Given the description of an element on the screen output the (x, y) to click on. 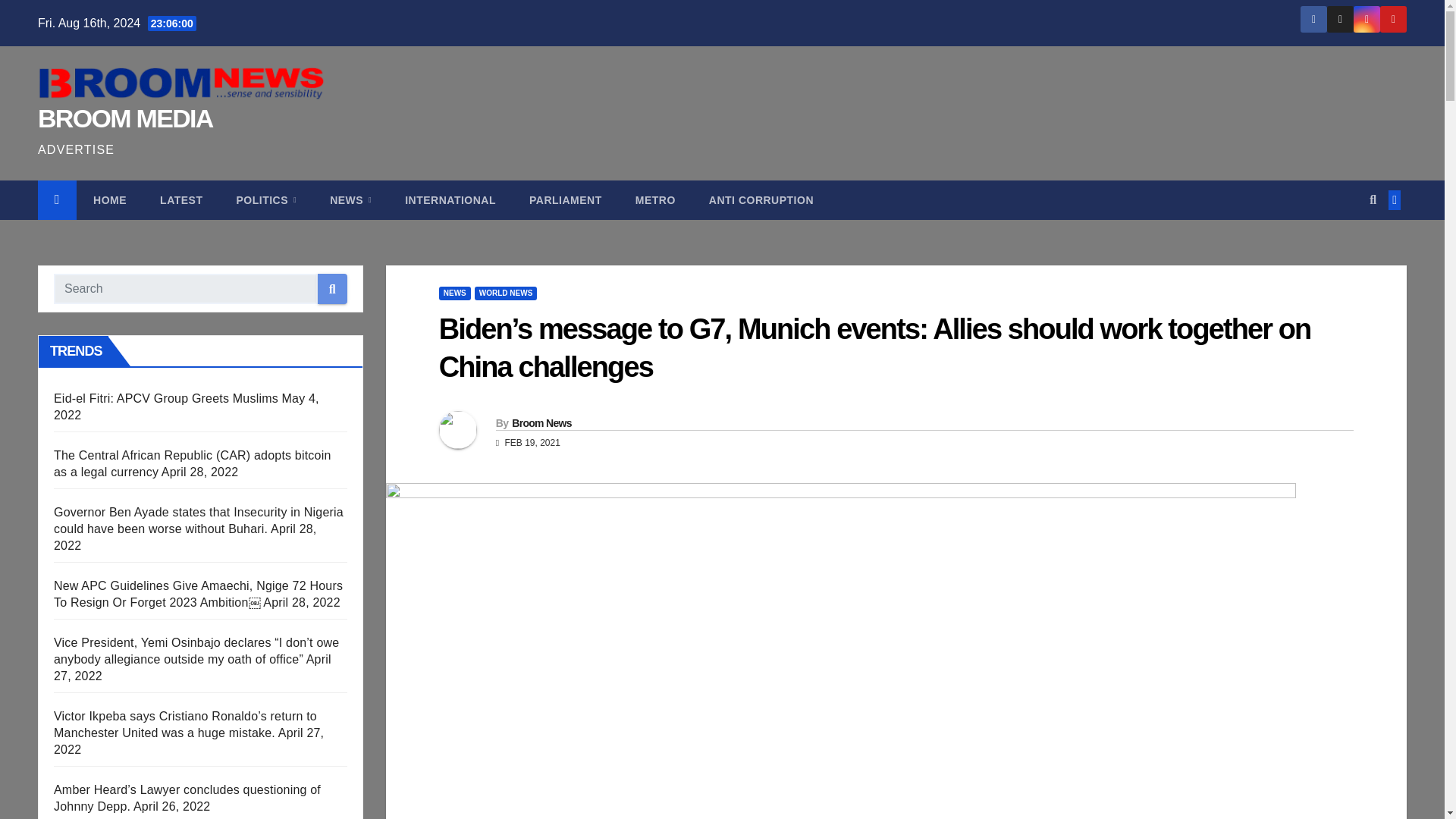
METRO (655, 200)
News (350, 200)
NEWS (350, 200)
BROOM MEDIA (124, 118)
Eid-el Fitri: APCV Group Greets Muslims (165, 398)
INTERNATIONAL (450, 200)
PARLIAMENT (565, 200)
Home (109, 200)
Latest (180, 200)
LATEST (180, 200)
